Given the description of an element on the screen output the (x, y) to click on. 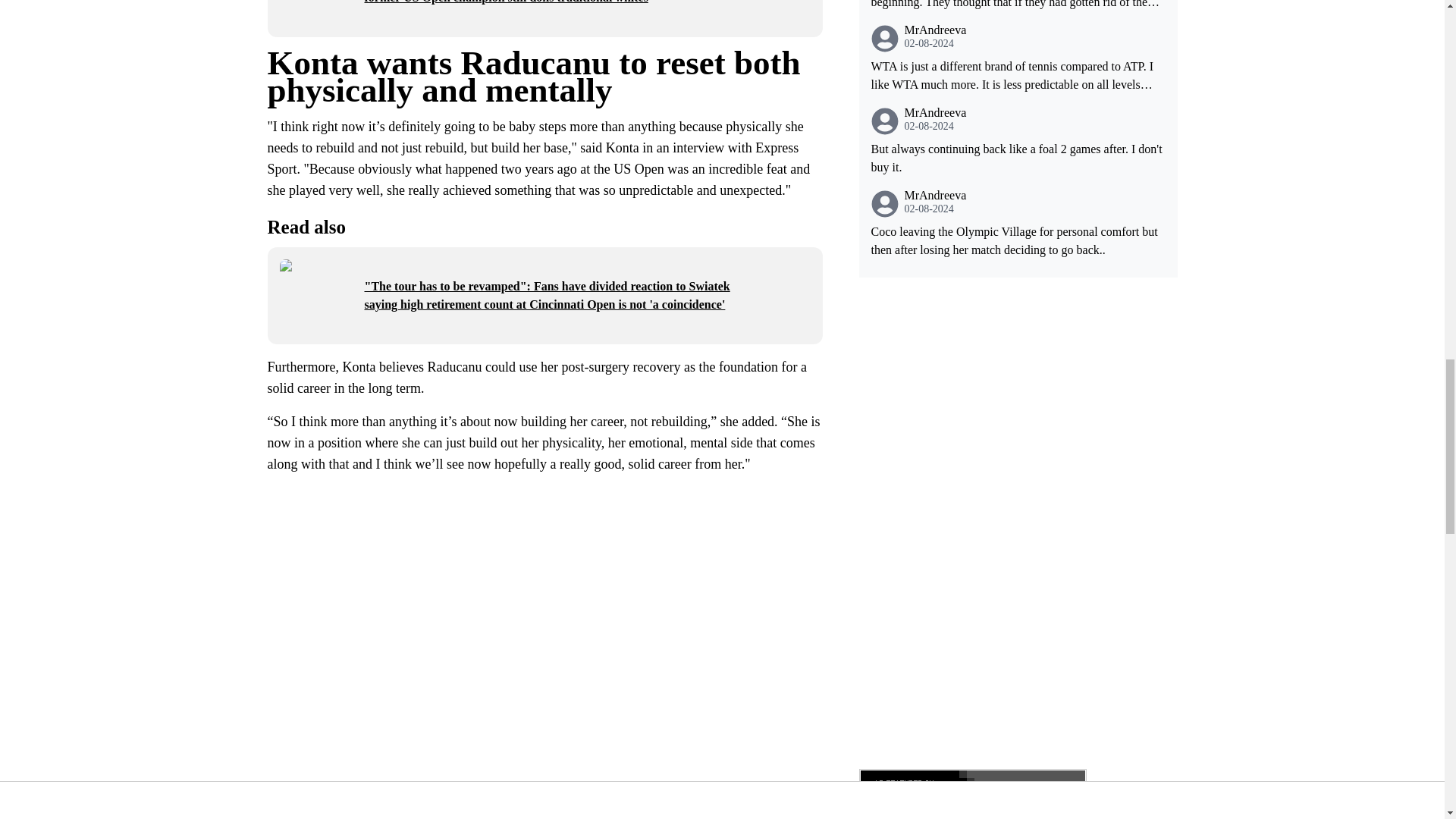
Click here for more Tennis news from NewsNow (972, 789)
embed (544, 796)
